Given the description of an element on the screen output the (x, y) to click on. 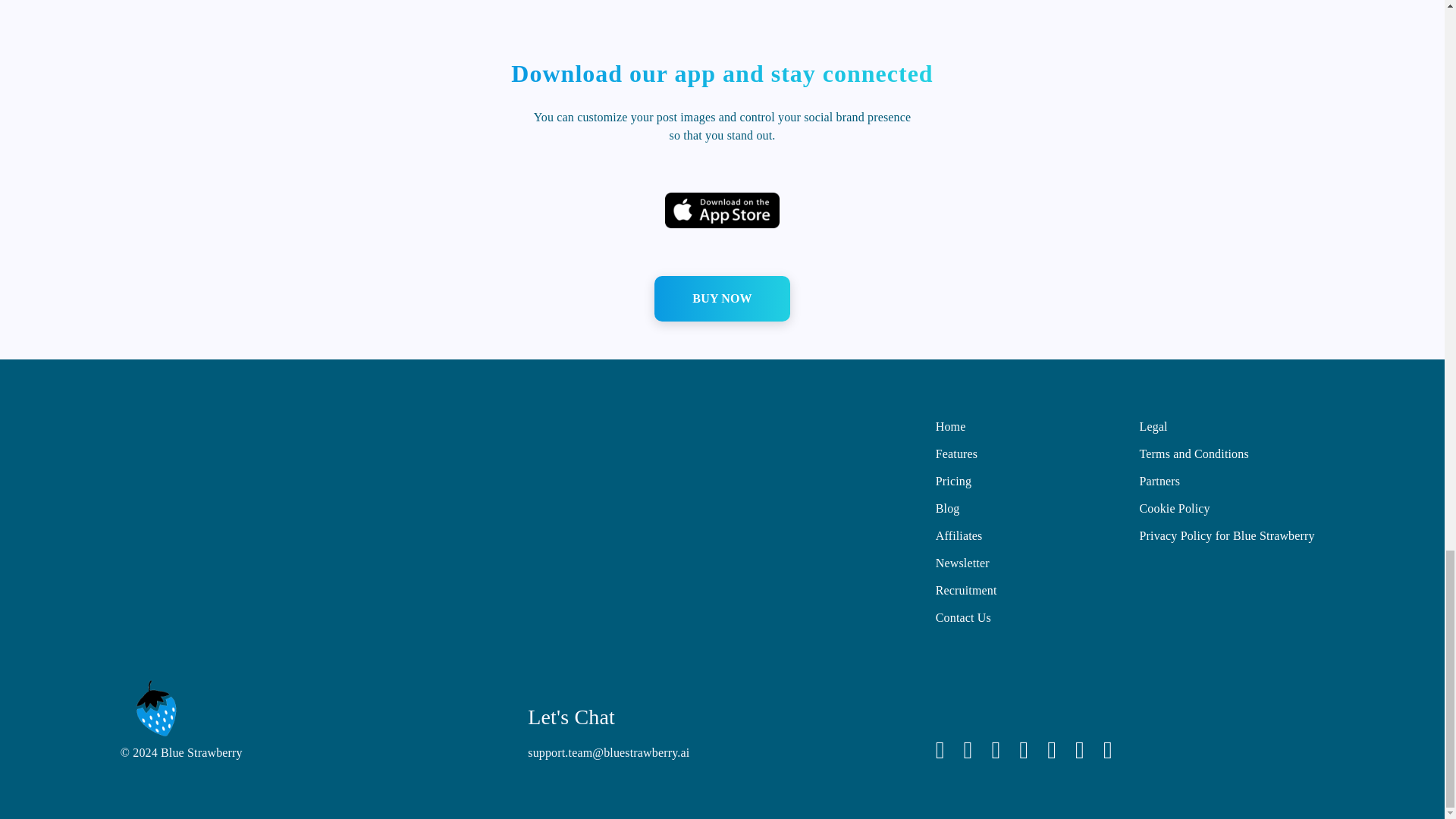
Download App from Apple App Store (721, 210)
